Given the description of an element on the screen output the (x, y) to click on. 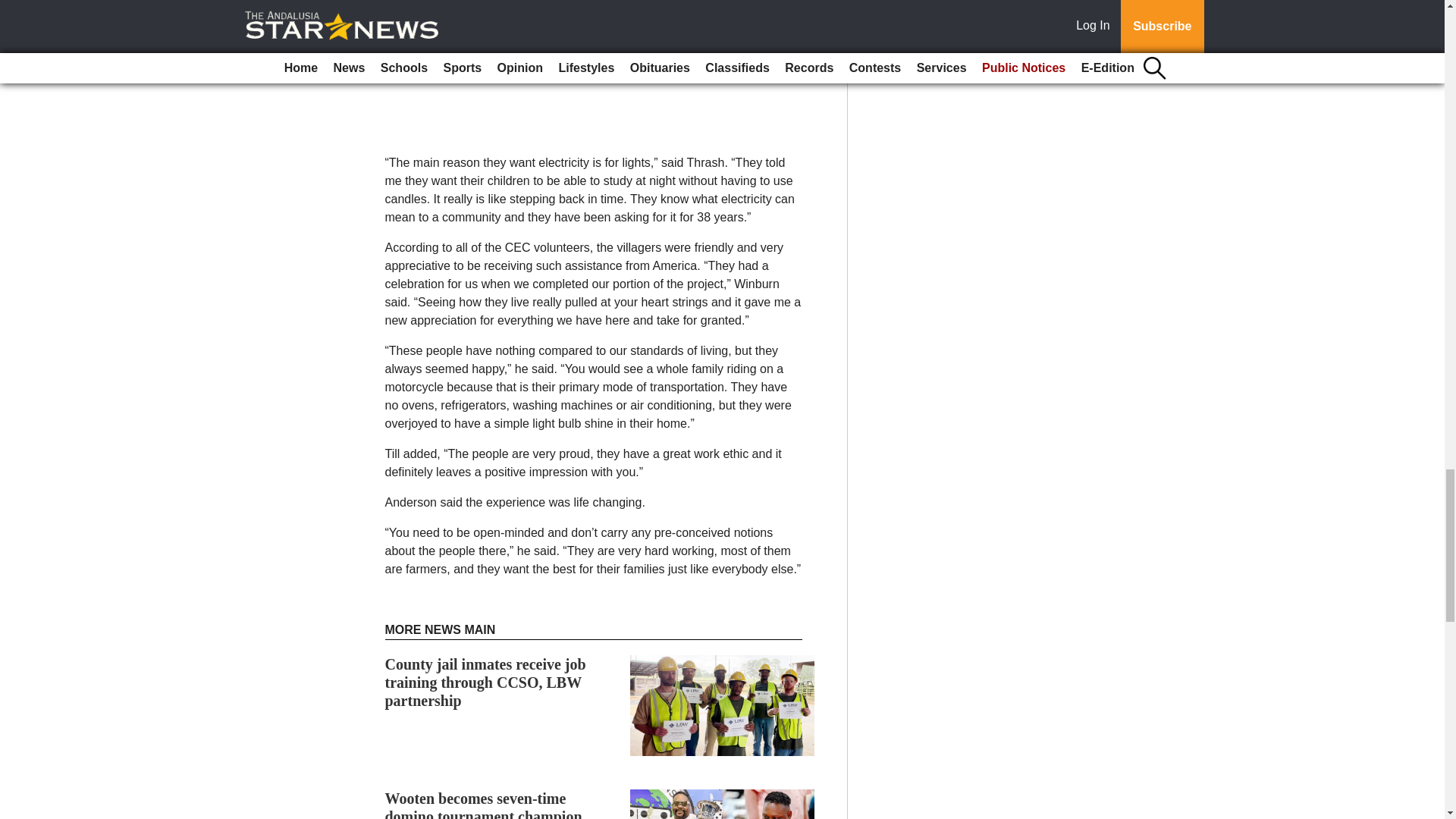
Wooten becomes seven-time domino tournament champion (483, 804)
Wooten becomes seven-time domino tournament champion (483, 804)
